Given the description of an element on the screen output the (x, y) to click on. 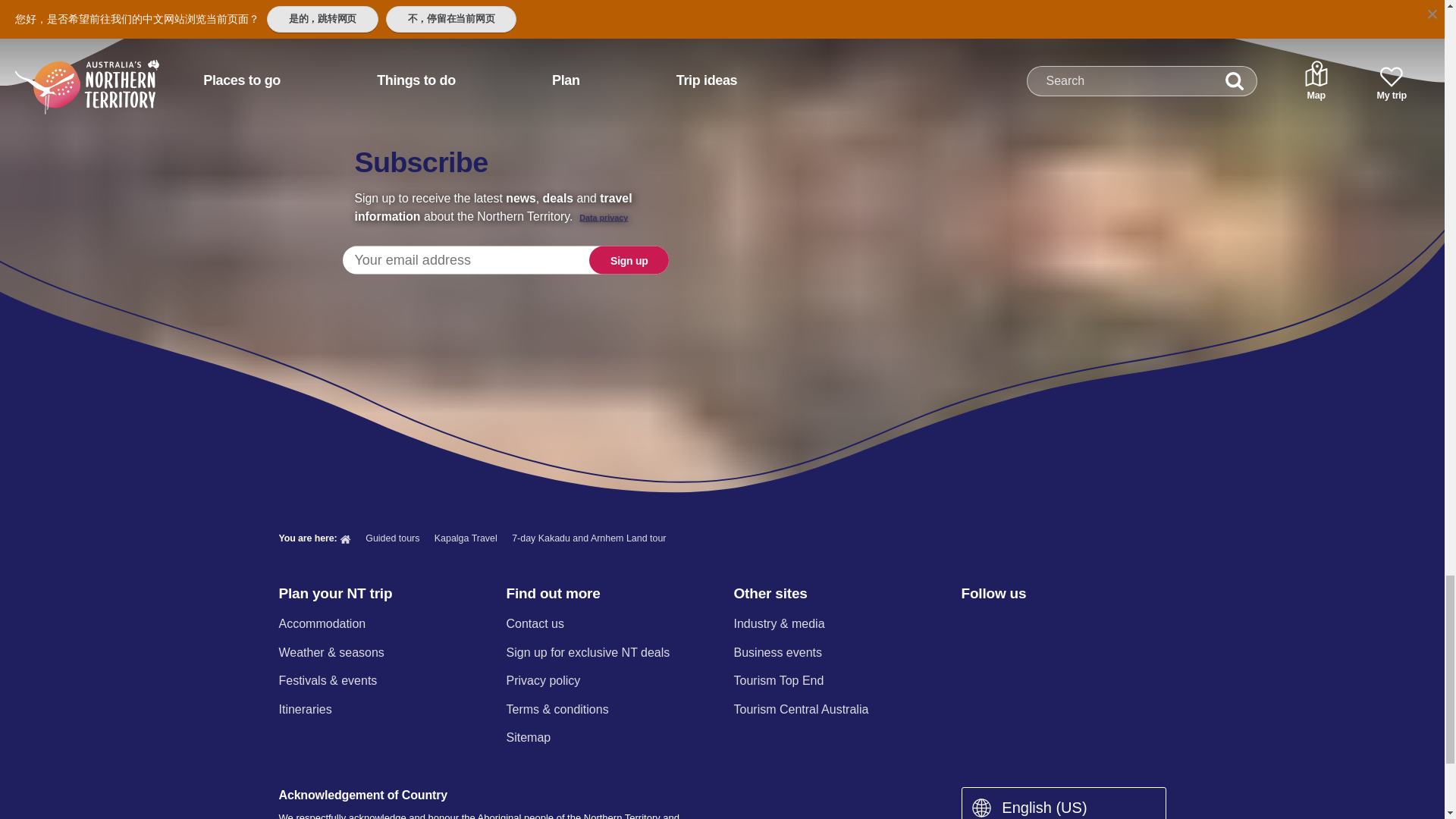
Twitter (1050, 625)
YouTube (1089, 625)
Trip Advisor (1129, 625)
Instagram (1009, 625)
Facebook (970, 625)
